Given the description of an element on the screen output the (x, y) to click on. 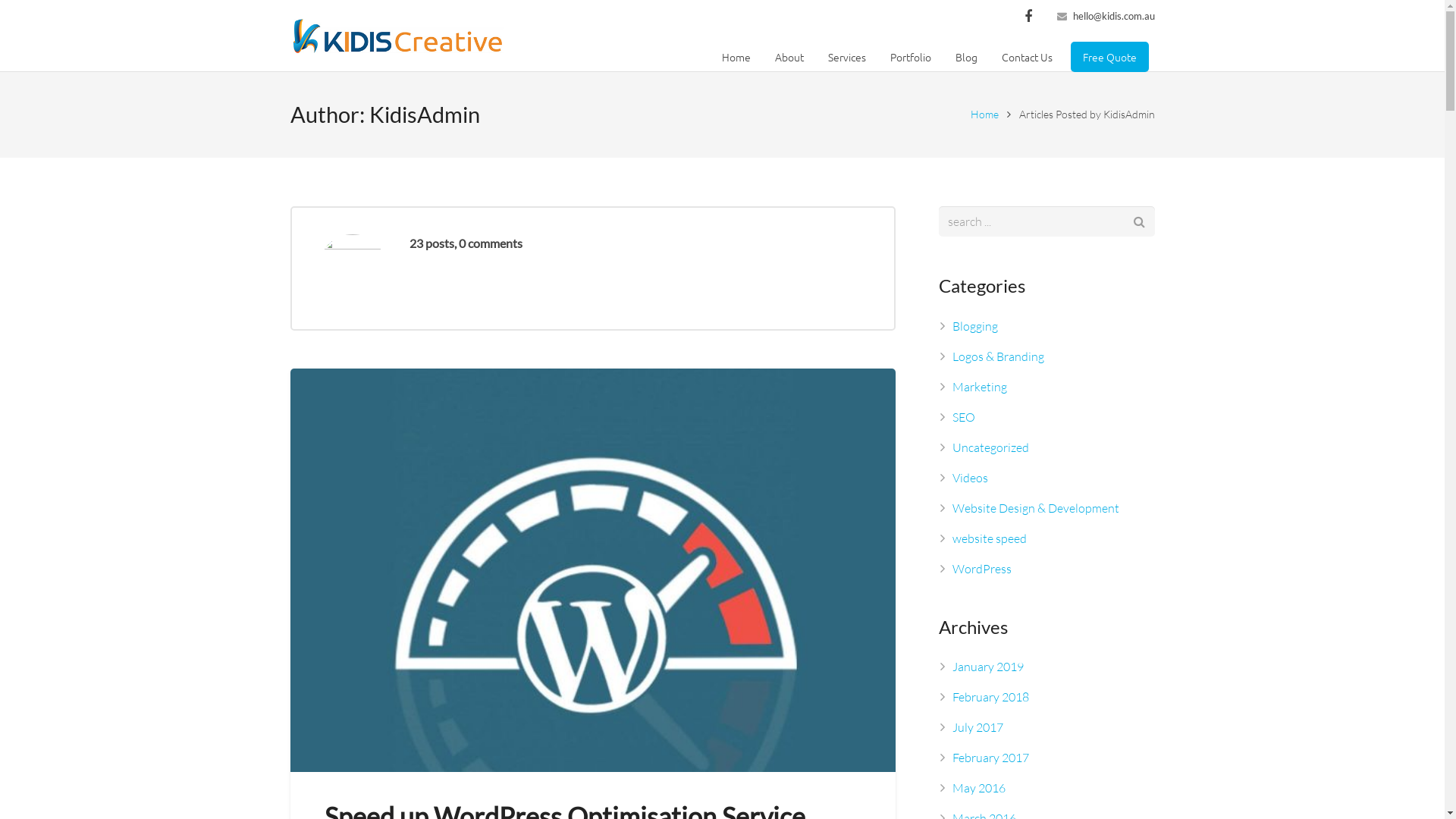
Blogging Element type: text (974, 325)
Uncategorized Element type: text (990, 447)
Home Element type: text (735, 56)
Home Element type: text (984, 113)
Logos & Branding Element type: text (998, 356)
Contact Us Element type: text (1025, 56)
Services Element type: text (846, 56)
January 2019 Element type: text (987, 666)
About Element type: text (788, 56)
Website Design & Development Element type: text (1035, 507)
Marketing Element type: text (979, 386)
Portfolio Element type: text (910, 56)
May 2016 Element type: text (978, 787)
Free Quote Element type: text (1109, 56)
February 2018 Element type: text (990, 696)
February 2017 Element type: text (990, 757)
hello@kidis.com.au Element type: text (1113, 15)
Blog Element type: text (966, 56)
July 2017 Element type: text (977, 726)
Videos Element type: text (970, 477)
website speed Element type: text (989, 538)
SEO Element type: text (963, 416)
WordPress Element type: text (981, 568)
